Given the description of an element on the screen output the (x, y) to click on. 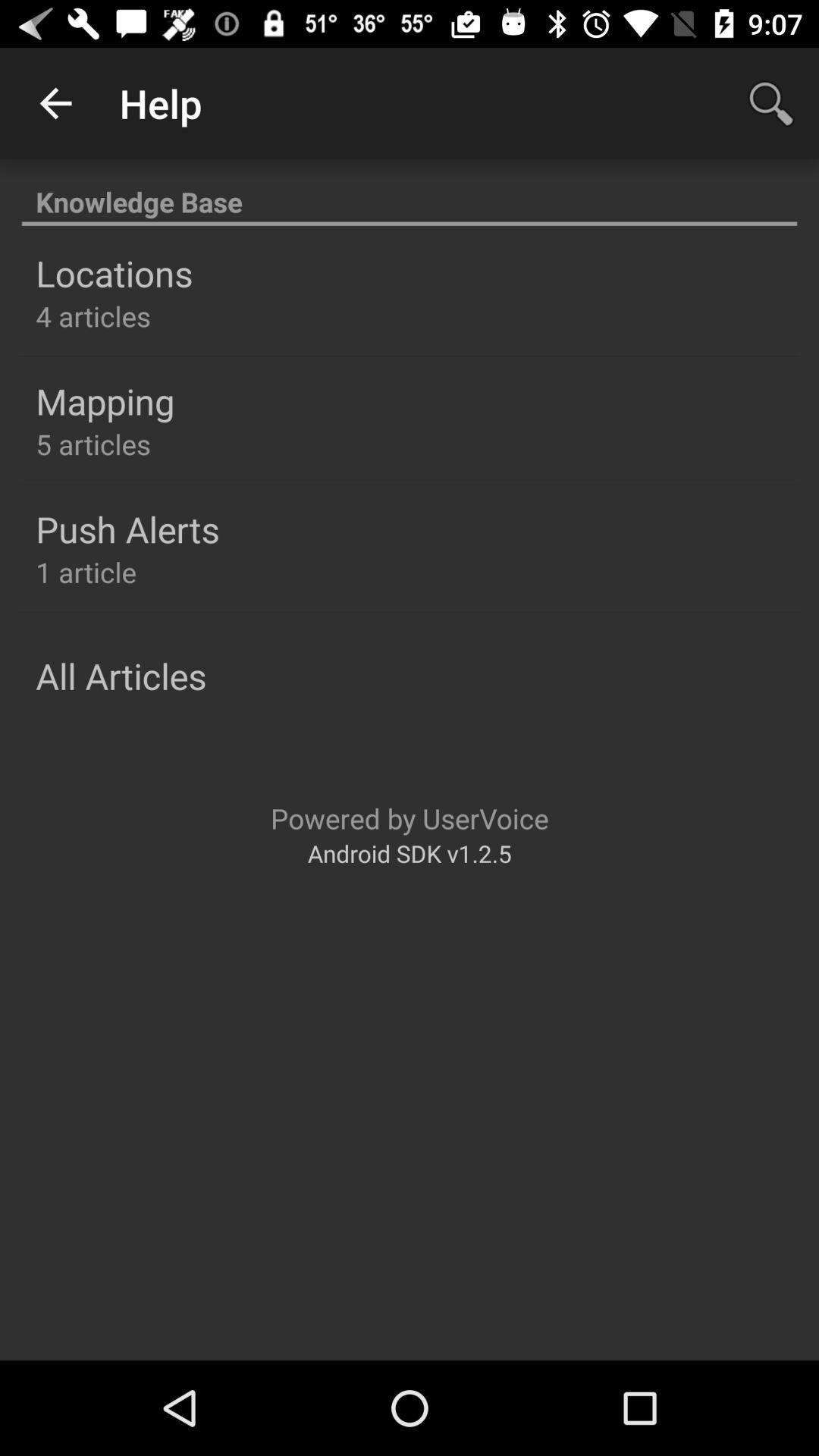
tap the item above android sdk v1 item (409, 818)
